Given the description of an element on the screen output the (x, y) to click on. 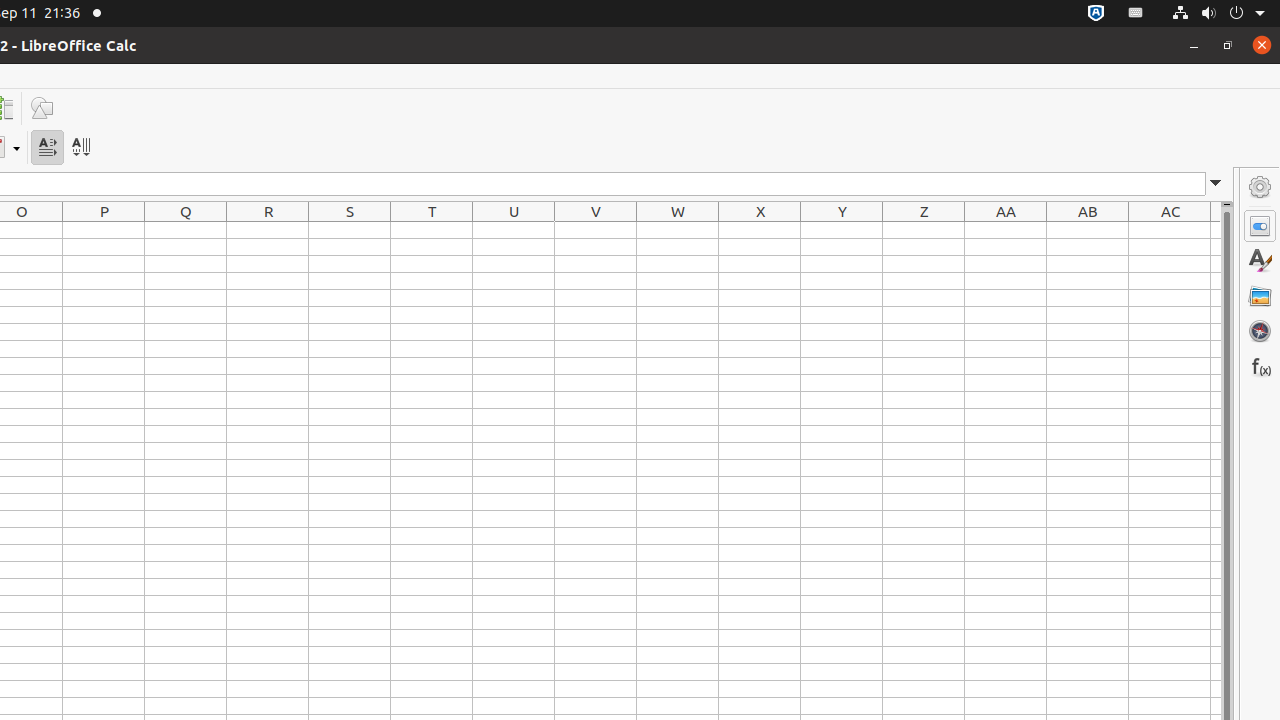
Functions Element type: radio-button (1260, 366)
V1 Element type: table-cell (596, 230)
Expand Formula Bar Element type: push-button (1216, 183)
